Given the description of an element on the screen output the (x, y) to click on. 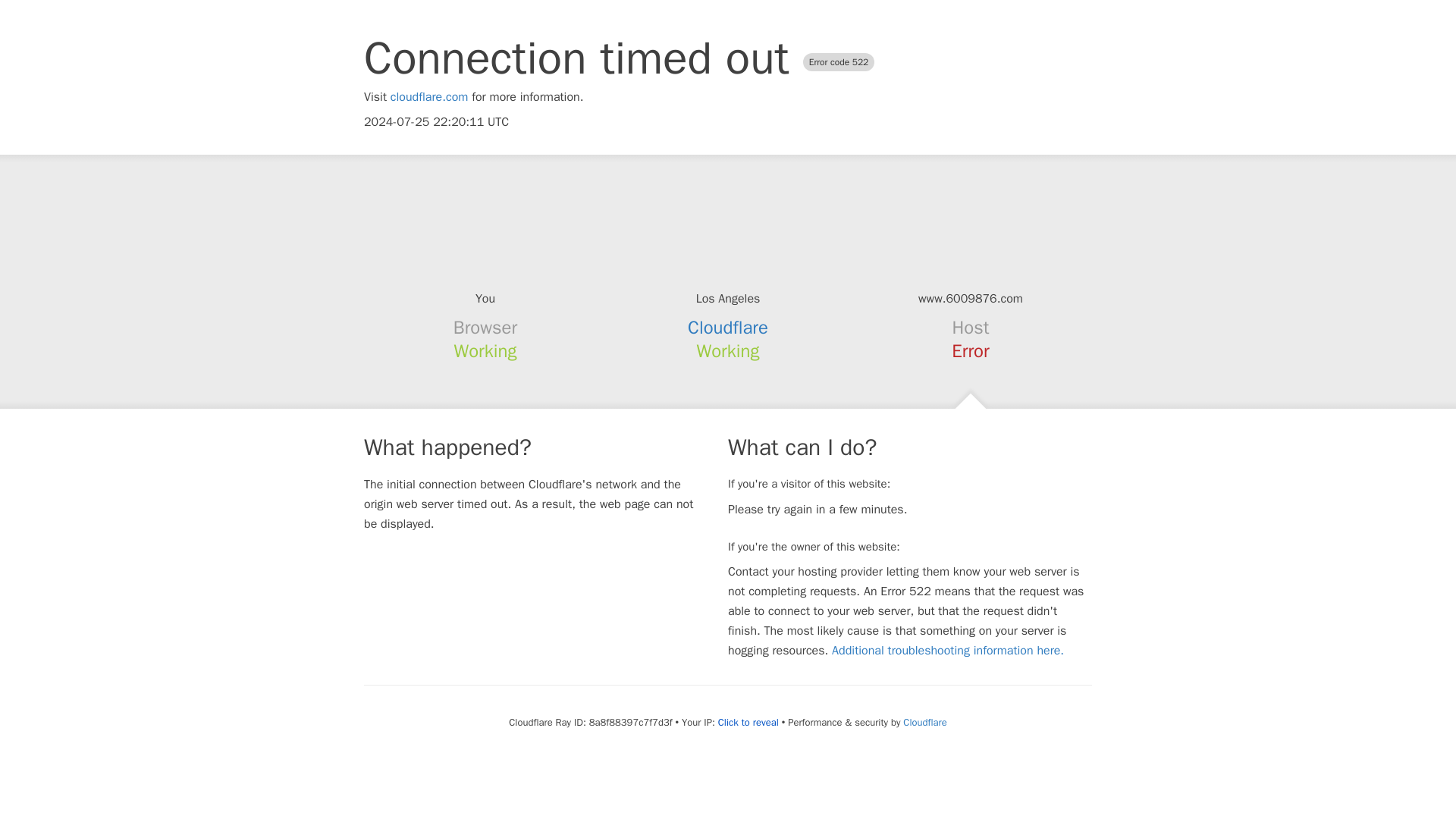
Click to reveal (747, 722)
Cloudflare (924, 721)
Additional troubleshooting information here. (947, 650)
cloudflare.com (429, 96)
Cloudflare (727, 327)
